Given the description of an element on the screen output the (x, y) to click on. 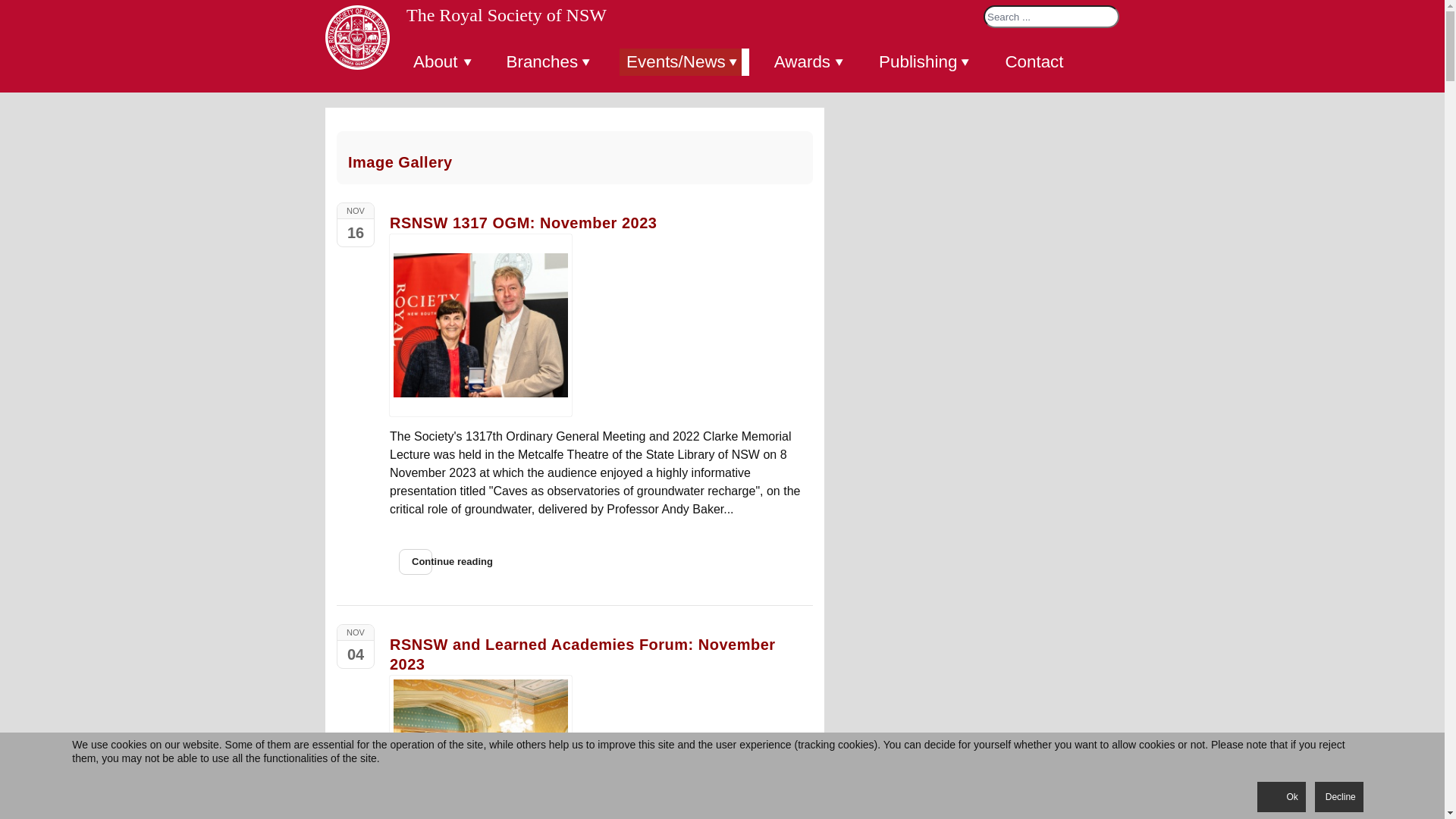
Events/News Element type: text (680, 61)
About Element type: text (439, 61)
Awards Element type: text (806, 61)
RSNSW 1317 OGM: November 2023 Element type: text (522, 222)
Publishing Element type: text (922, 61)
RSNSW 1317 OGM: November 2023 Element type: hover (480, 325)
Decline Element type: text (1338, 796)
Contact Element type: text (1033, 61)
The Royal Society of NSW Element type: text (501, 15)
Continue reading Element type: text (415, 561)
RSNSW and Learned Academies Forum: November 2023 Element type: text (582, 654)
Ok Element type: text (1281, 796)
Branches Element type: text (546, 61)
Image Gallery Element type: text (400, 161)
